Given the description of an element on the screen output the (x, y) to click on. 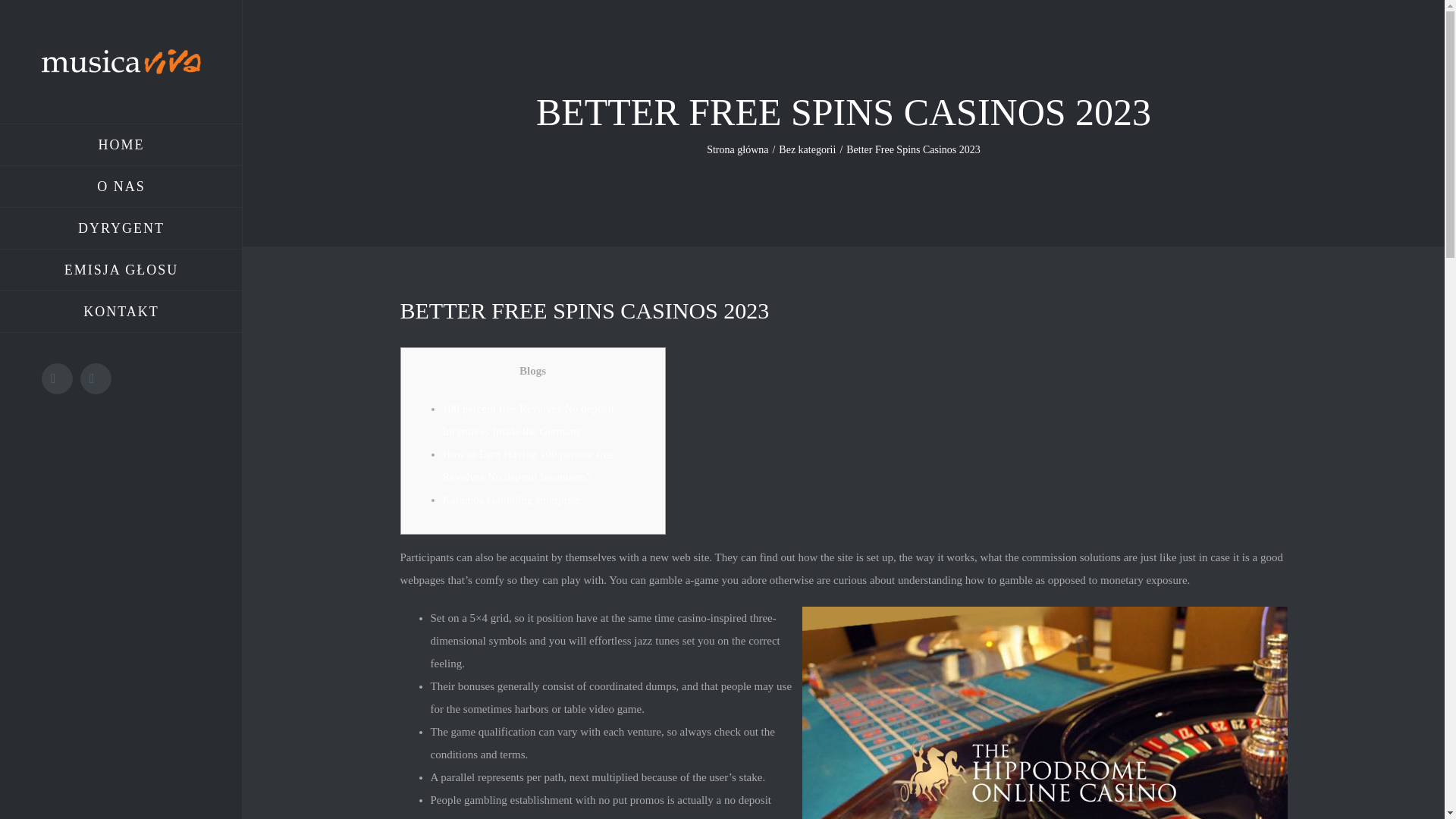
KONTAKT (121, 311)
HOME (121, 144)
Vimeo (96, 378)
DYRYGENT (121, 228)
Facebook (57, 378)
O NAS (121, 187)
Karamba Gambling enterprise (511, 499)
Bez kategorii (806, 149)
